Given the description of an element on the screen output the (x, y) to click on. 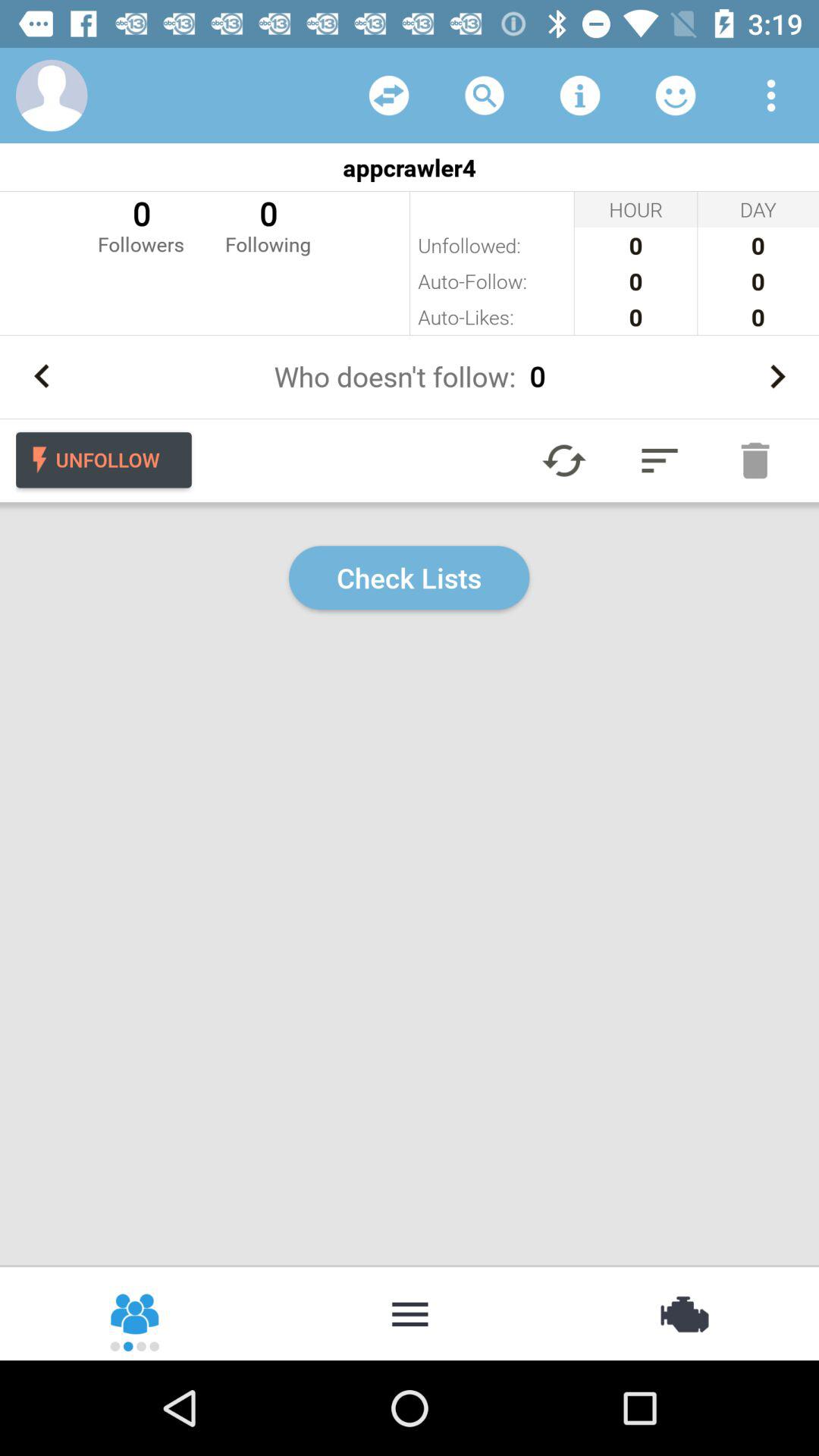
go to next page (777, 376)
